Given the description of an element on the screen output the (x, y) to click on. 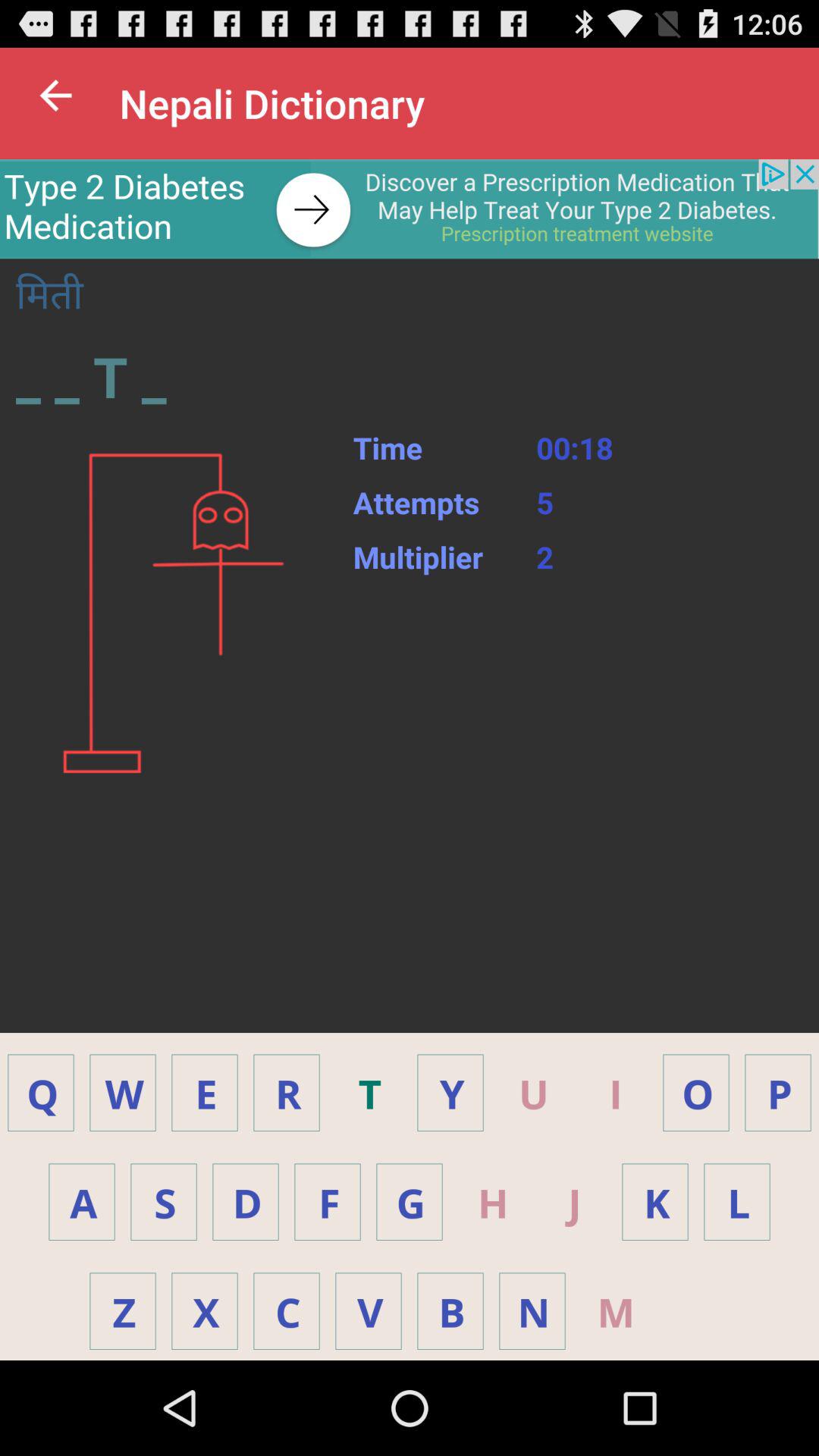
advertisement banner (409, 208)
